Given the description of an element on the screen output the (x, y) to click on. 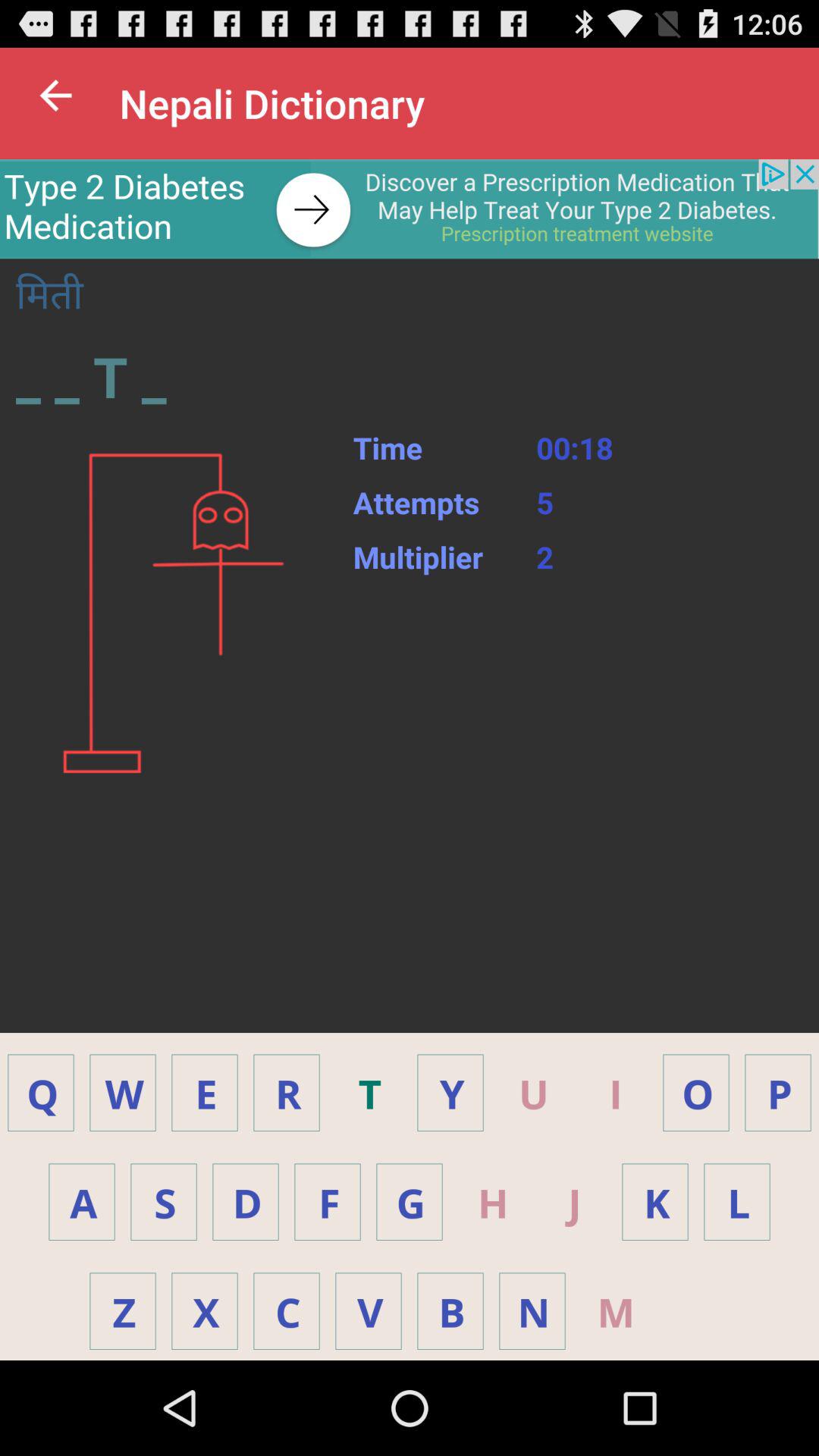
advertisement banner (409, 208)
